Given the description of an element on the screen output the (x, y) to click on. 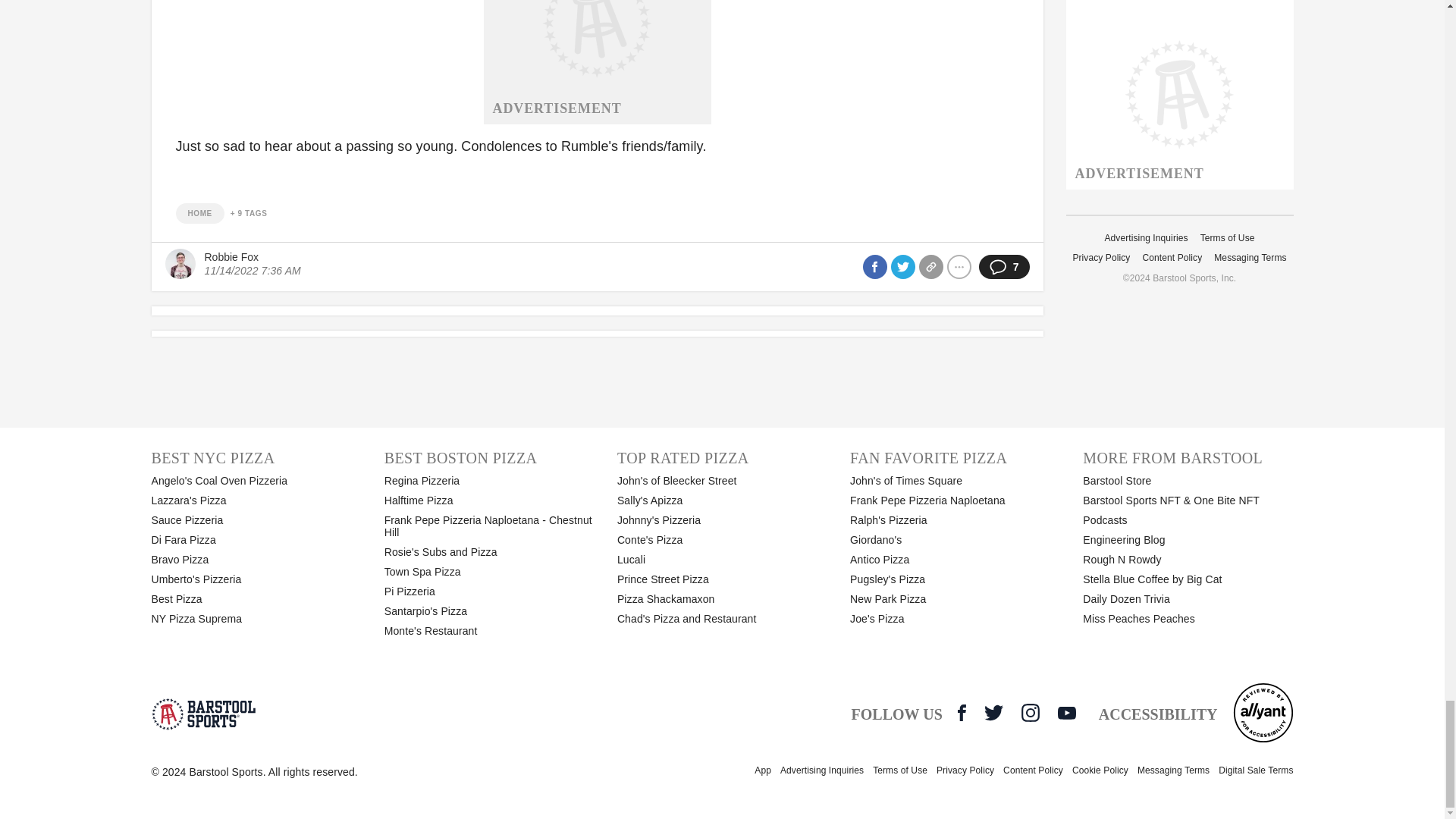
Twitter Icon (993, 712)
YouTube Icon (1066, 712)
Instagram Icon (1030, 712)
Reviewed by Allyant for accessibility (1263, 712)
